Given the description of an element on the screen output the (x, y) to click on. 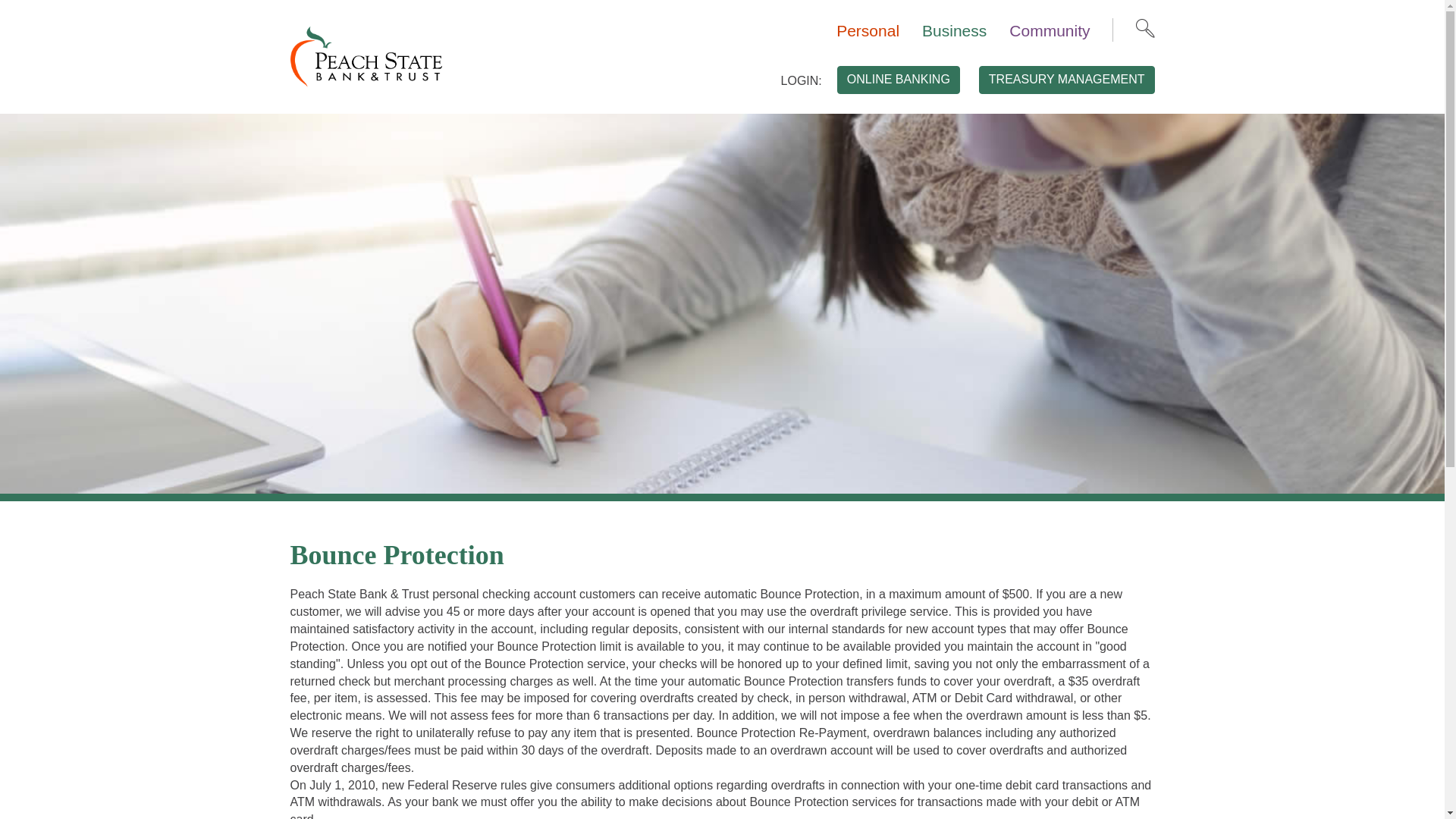
Peach State Bank & Trust, Gainesville, GA Element type: hover (365, 55)
